Given the description of an element on the screen output the (x, y) to click on. 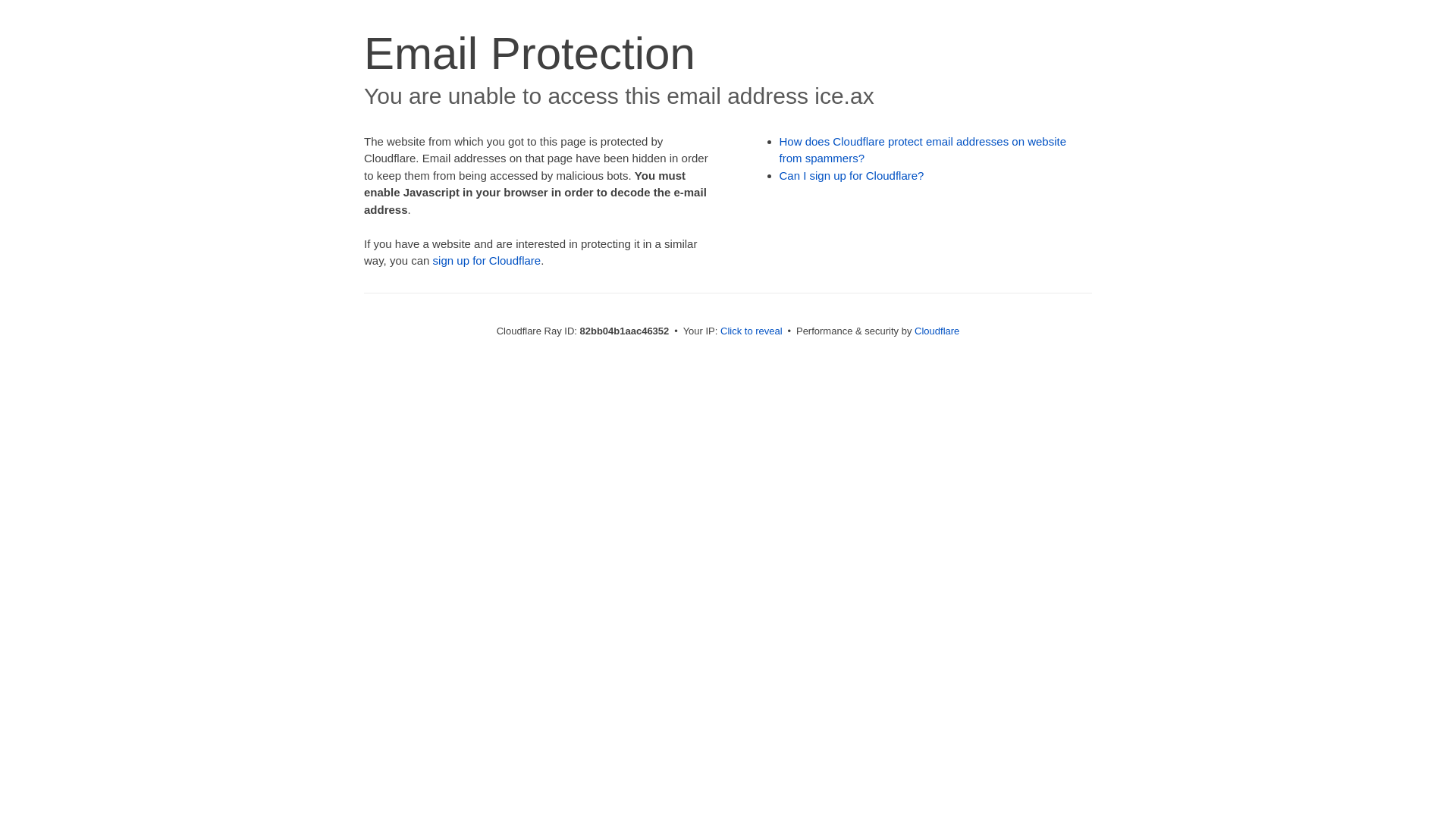
Can I sign up for Cloudflare? Element type: text (851, 175)
sign up for Cloudflare Element type: text (487, 260)
Click to reveal Element type: text (751, 330)
Cloudflare Element type: text (936, 330)
